Given the description of an element on the screen output the (x, y) to click on. 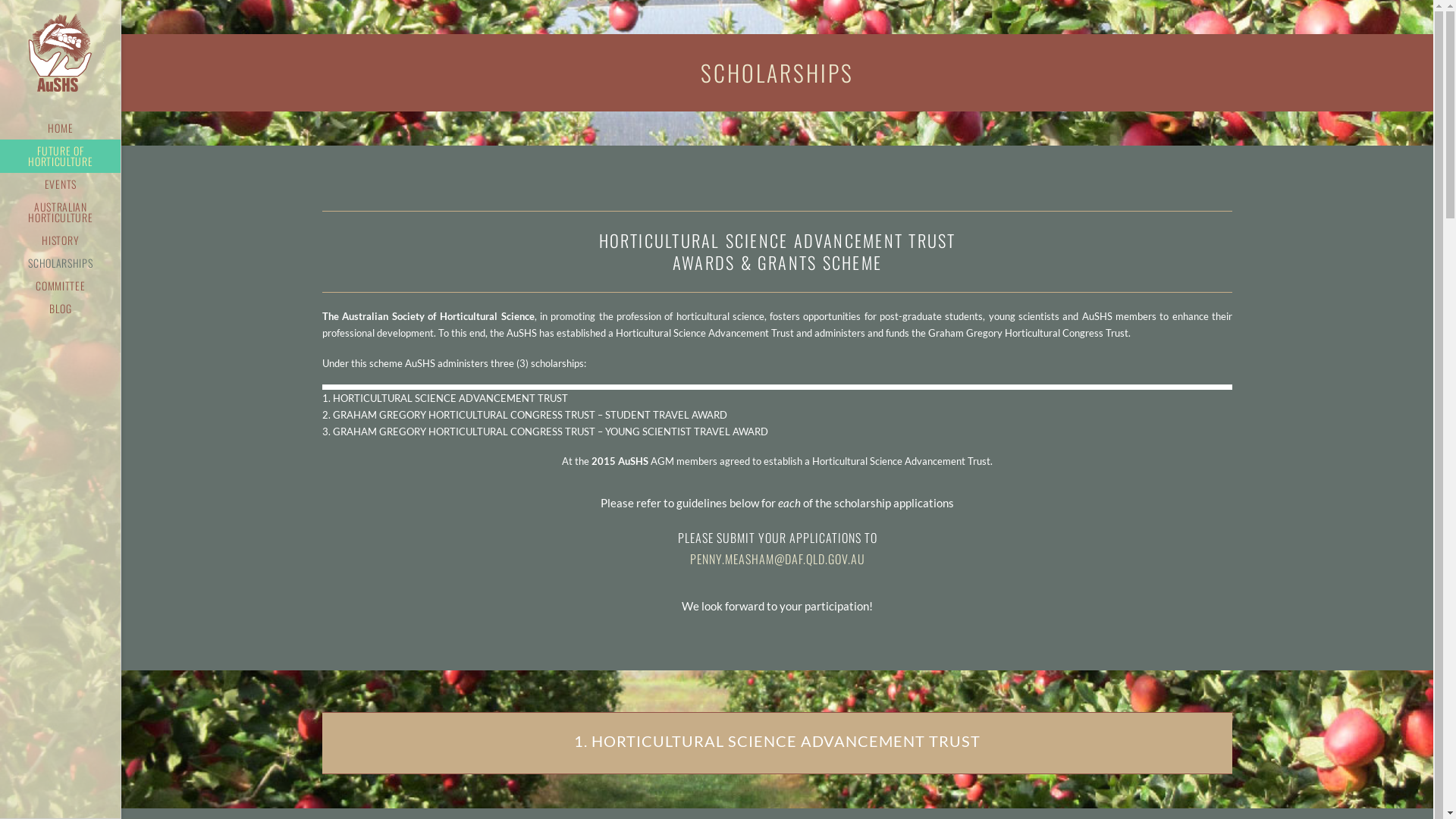
Australian Society of Horticultural Science Element type: hover (60, 54)
HISTORY Element type: text (60, 240)
BLOG Element type: text (60, 308)
AUSTRALIAN
HORTICULTURE Element type: text (60, 212)
SCHOLARSHIPS Element type: text (60, 262)
HOME Element type: text (60, 127)
COMMITTEE Element type: text (60, 285)
FUTURE OF HORTICULTURE Element type: text (60, 155)
EVENTS Element type: text (60, 183)
PENNY.MEASHAM@DAF.QLD.GOV.AU Element type: text (777, 558)
